Given the description of an element on the screen output the (x, y) to click on. 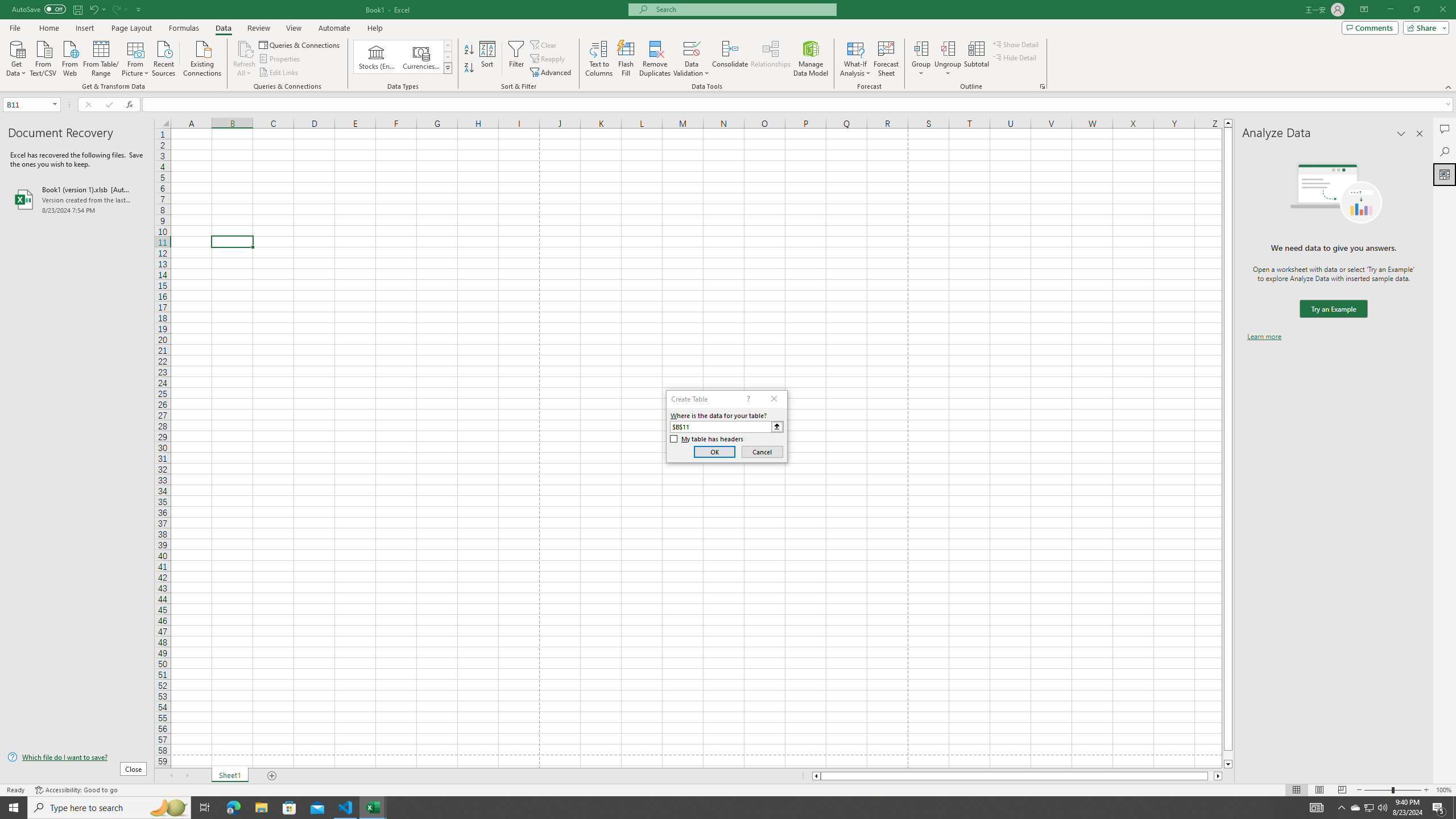
Which file do I want to save? (77, 757)
Hide Detail (1014, 56)
Class: NetUIImage (447, 68)
Currencies (English) (420, 56)
Existing Connections (202, 57)
